Given the description of an element on the screen output the (x, y) to click on. 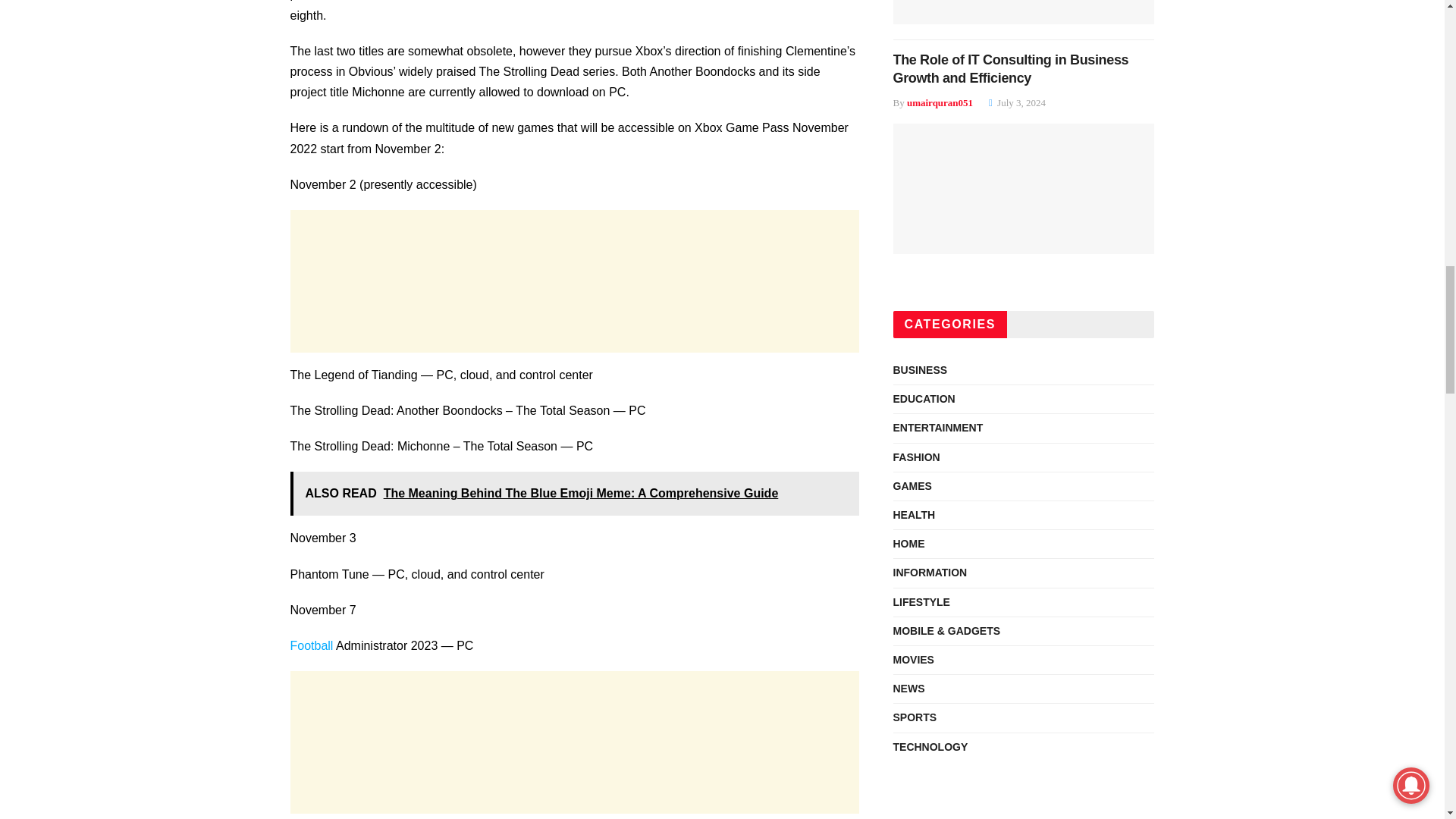
Advertisement (574, 280)
Advertisement (574, 742)
